Given the description of an element on the screen output the (x, y) to click on. 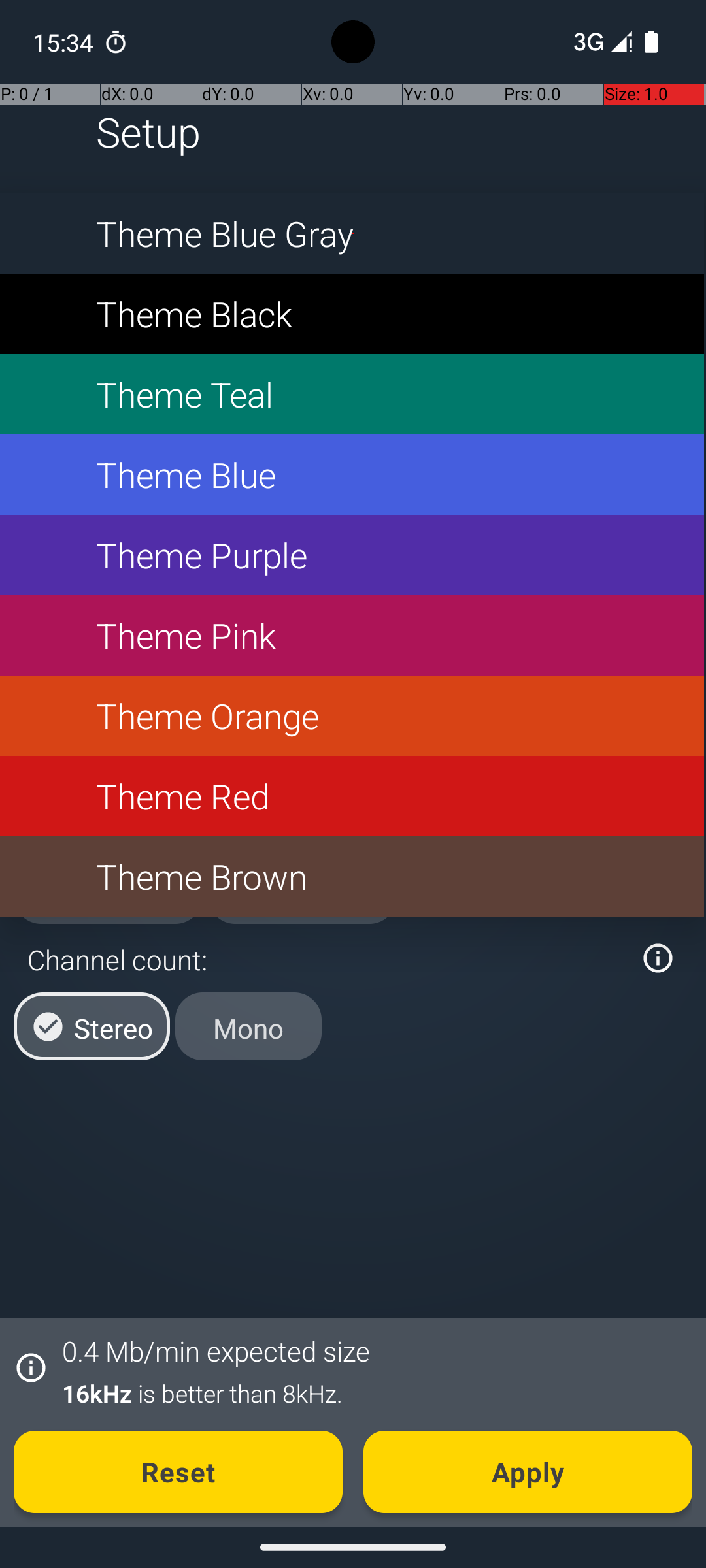
Theme Black Element type: android.widget.TextView (352, 313)
Theme Pink Element type: android.widget.TextView (352, 635)
